Given the description of an element on the screen output the (x, y) to click on. 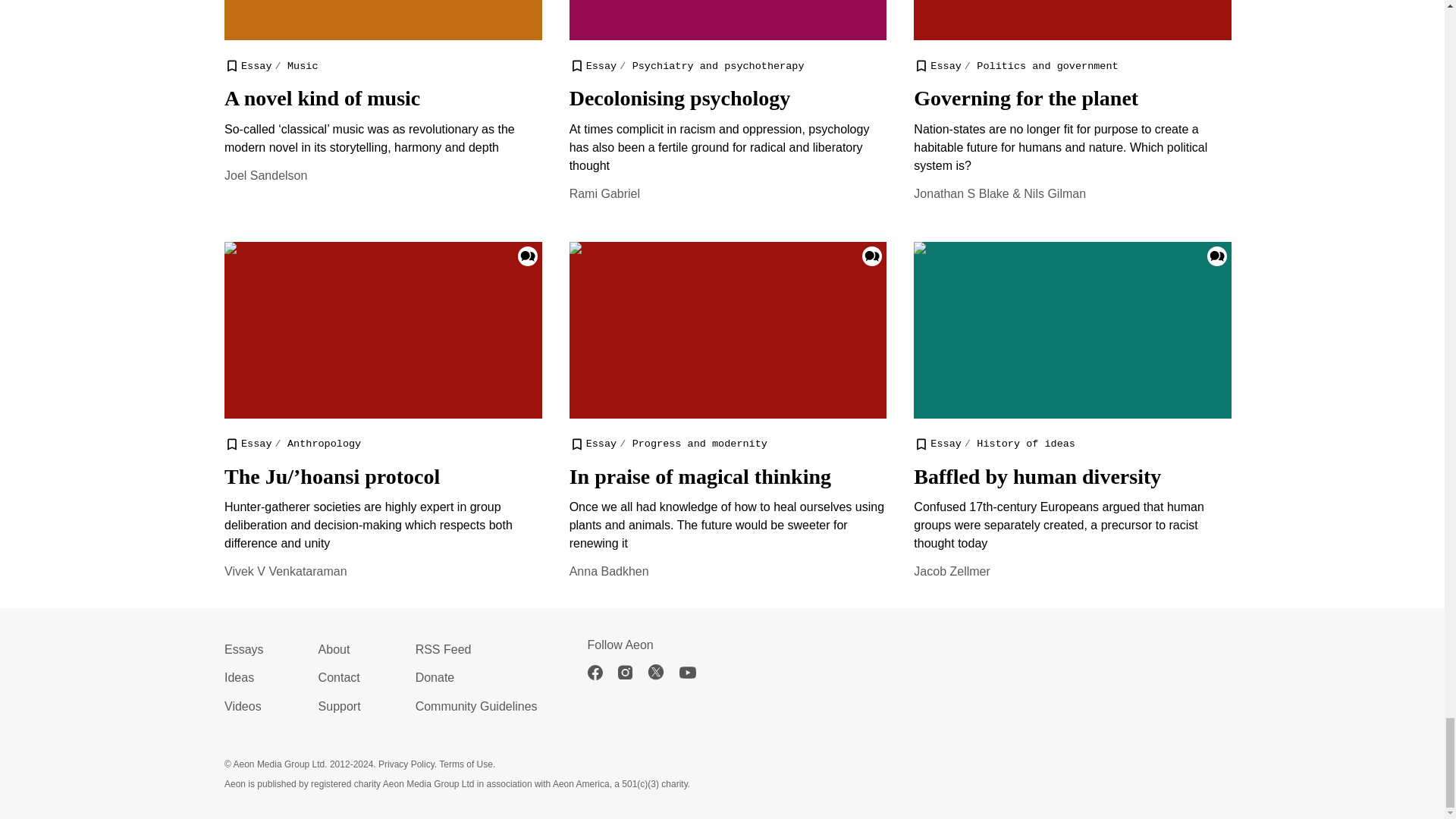
Instagram (632, 671)
YouTube (695, 671)
Facebook (602, 671)
Essays (243, 649)
